Given the description of an element on the screen output the (x, y) to click on. 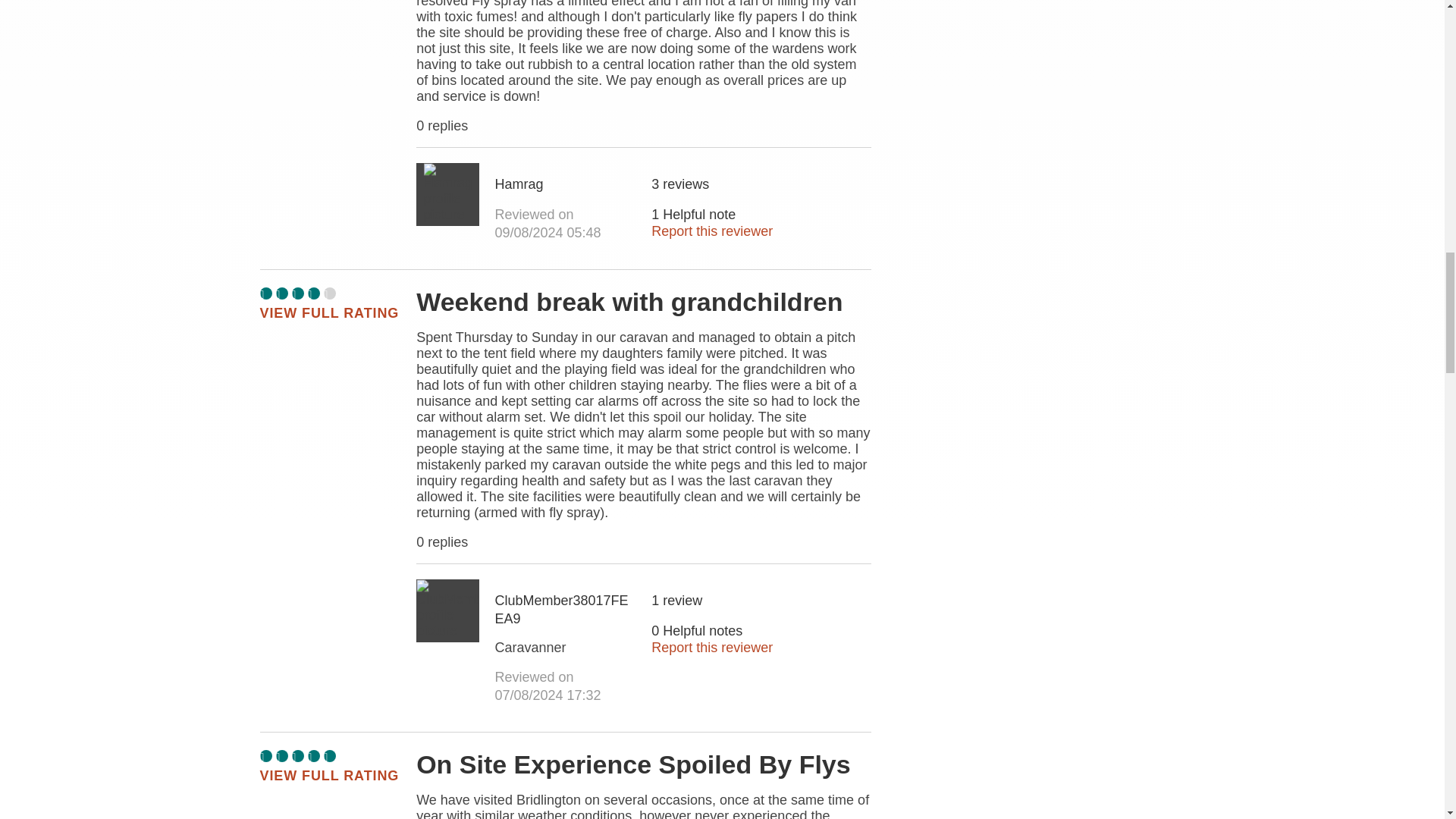
View ClubMember38017FEEA9 profile (565, 609)
Report this reviewer (711, 231)
View ClubMember38017FEEA9's profile (565, 647)
View ClubMember38017FEEA9 profile (447, 610)
View Hamrag profile (565, 184)
Report this reviewer (711, 647)
View Hamrag profile (447, 194)
